Given the description of an element on the screen output the (x, y) to click on. 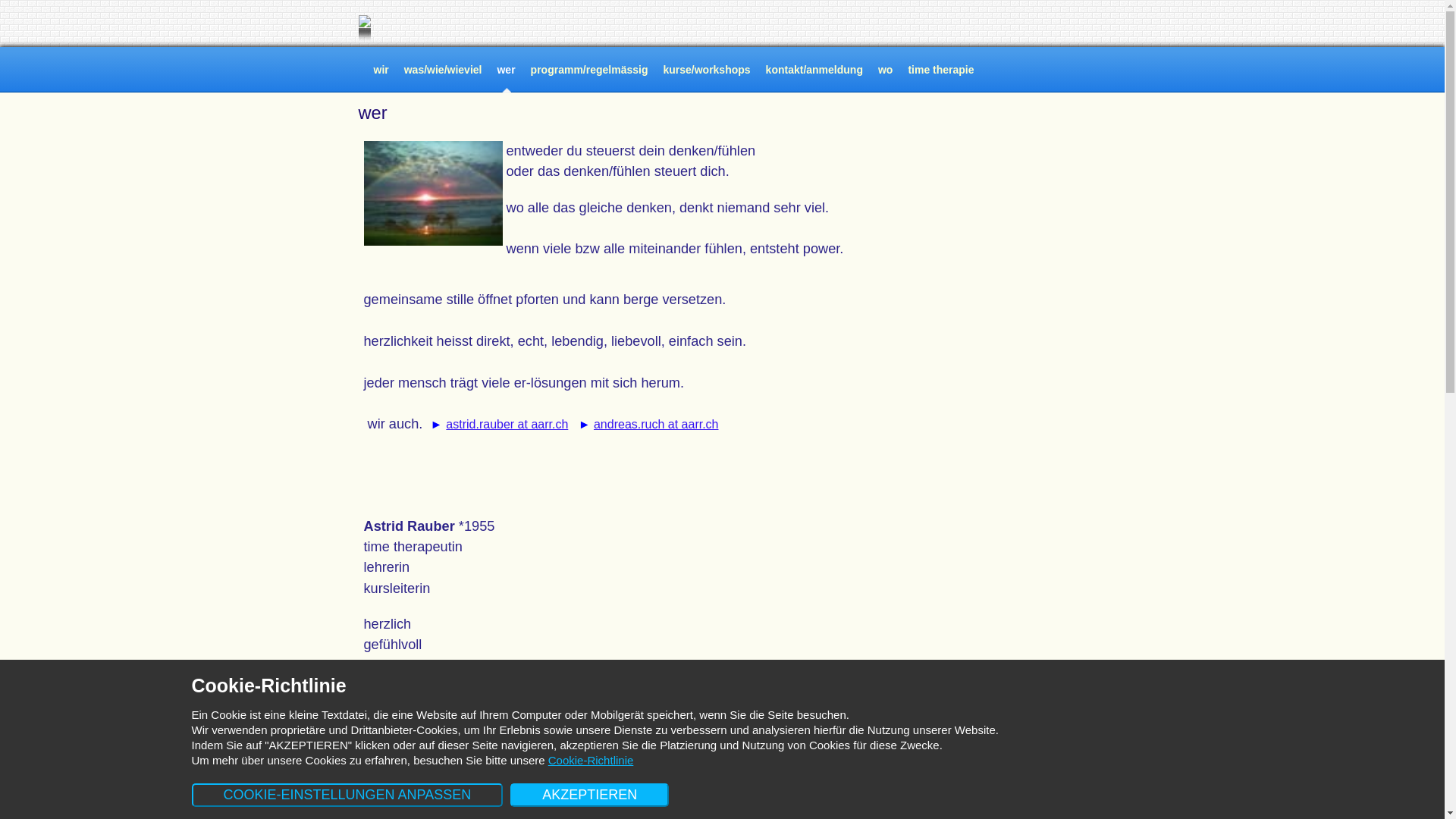
AKZEPTIEREN Element type: text (589, 794)
time therapie Element type: text (940, 69)
andreas.ruch at aarr.ch Element type: text (655, 423)
kurse/workshops Element type: text (705, 69)
was/wie/wieviel Element type: text (443, 69)
astrid.rauber at aarr.ch Element type: text (506, 423)
wer Element type: text (505, 69)
COOKIE-EINSTELLUNGEN ANPASSEN Element type: text (346, 794)
Cookie-Richtlinie Element type: text (590, 759)
kontakt/anmeldung Element type: text (813, 69)
wir Element type: text (380, 69)
wo Element type: text (885, 69)
